Given the description of an element on the screen output the (x, y) to click on. 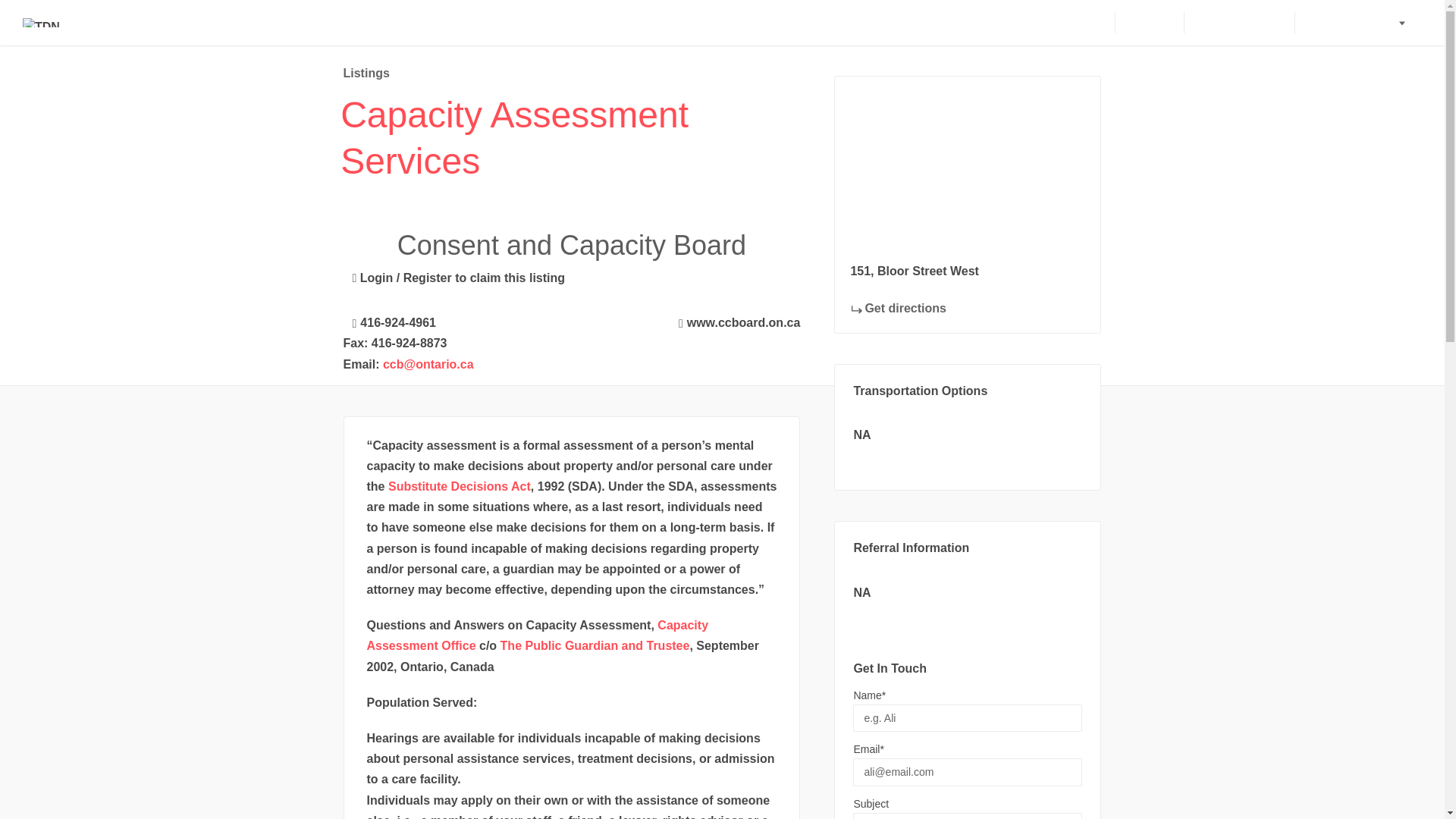
Service Providers (1358, 22)
The Public Guardian and Trustee (595, 645)
About (1083, 22)
Contact (1148, 22)
Substitute Decisions Act (459, 486)
Capacity Assessment Office (537, 635)
Listings (365, 73)
Get directions (898, 308)
Research Studies (1238, 22)
416-924-4961 (388, 319)
www.ccboard.on.ca (734, 319)
